Given the description of an element on the screen output the (x, y) to click on. 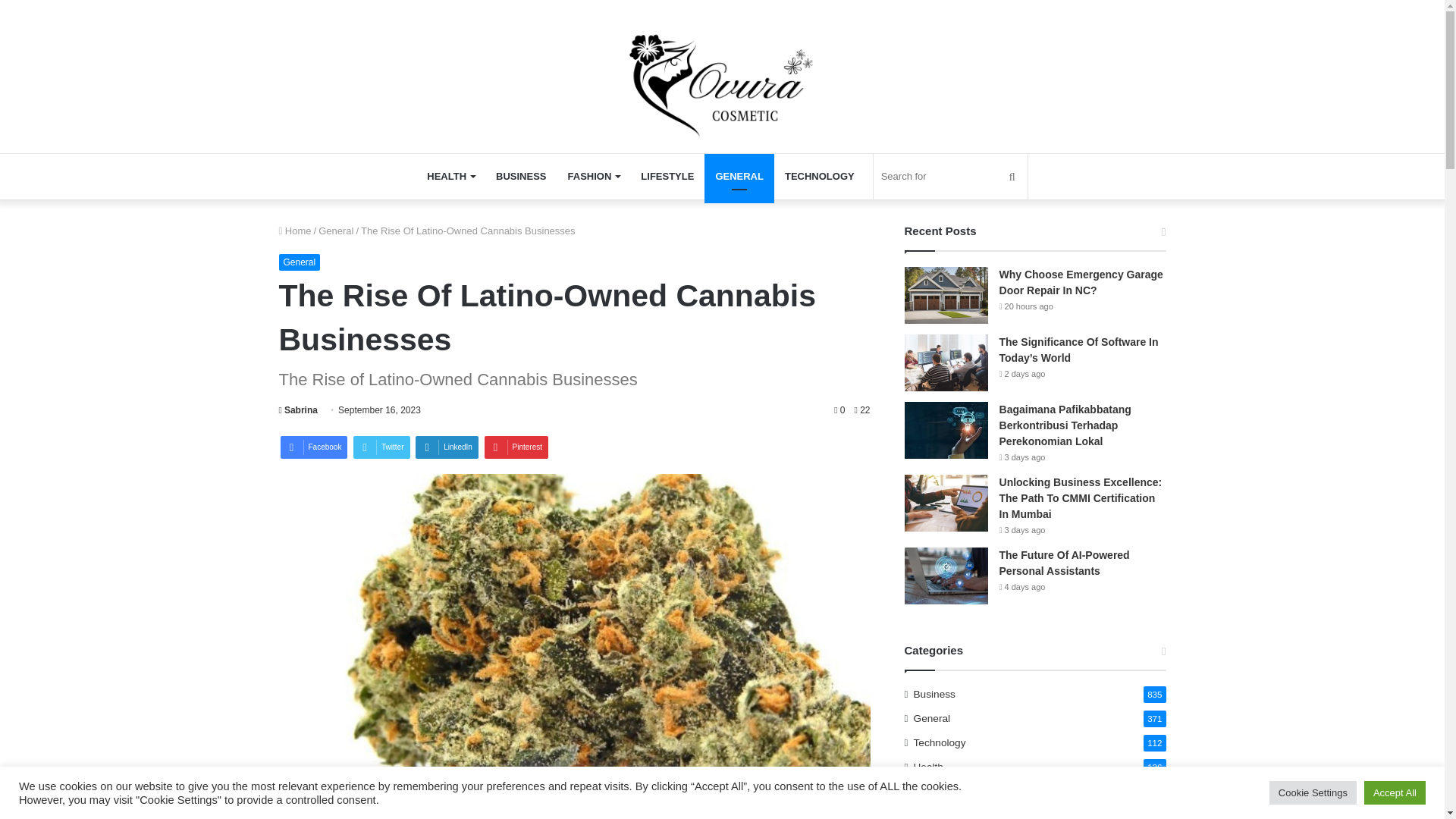
Sabrina (298, 409)
Facebook (314, 446)
GENERAL (739, 176)
LIFESTYLE (667, 176)
BUSINESS (520, 176)
Pinterest (516, 446)
LinkedIn (446, 446)
Facebook (314, 446)
Twitter (381, 446)
Twitter (381, 446)
General (299, 262)
TECHNOLOGY (819, 176)
Search for (950, 176)
Home (295, 230)
Pinterest (516, 446)
